Given the description of an element on the screen output the (x, y) to click on. 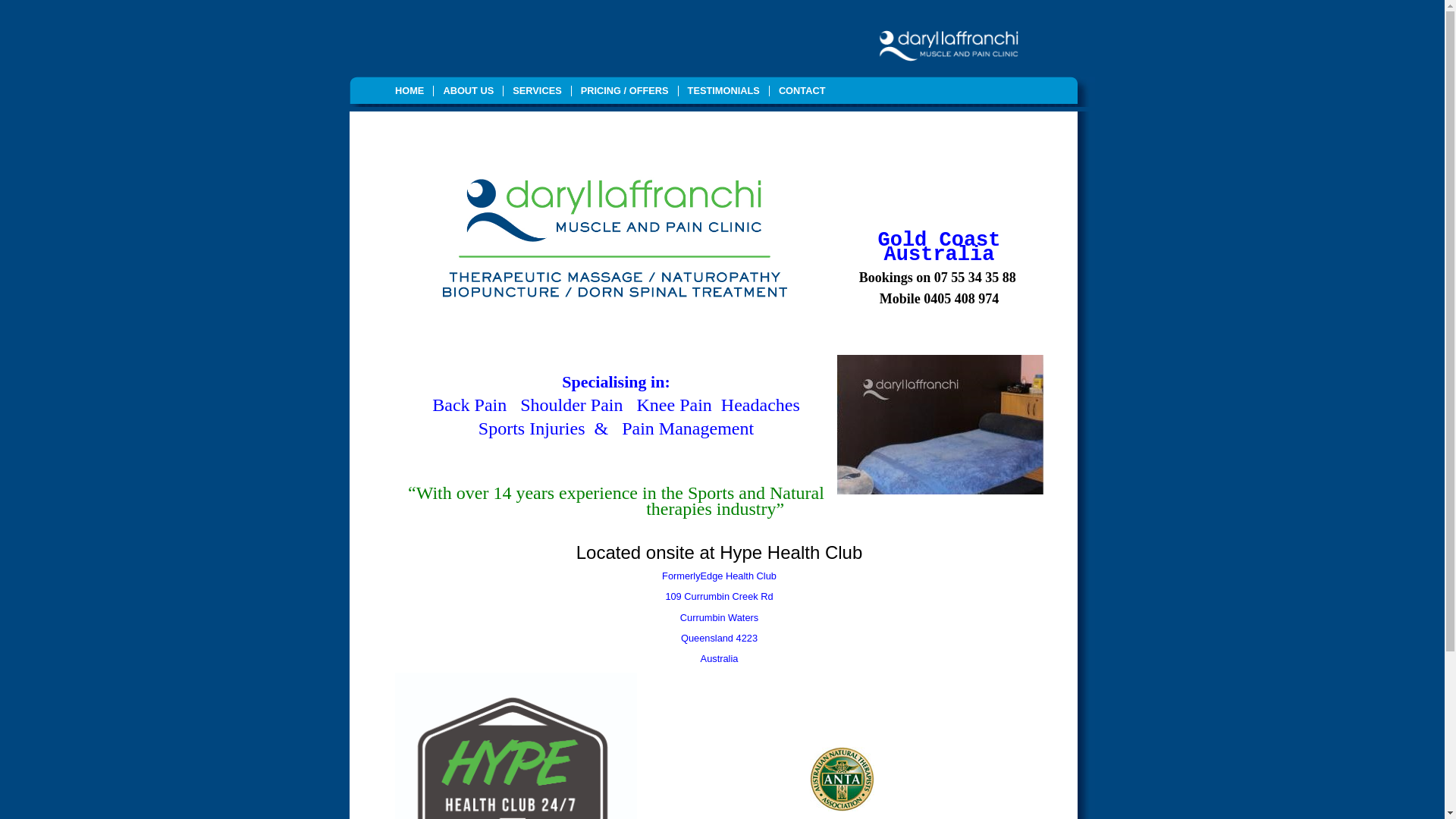
TESTIMONIALS Element type: text (723, 90)
ABOUT US Element type: text (467, 90)
HOME Element type: text (409, 90)
PRICING / OFFERS Element type: text (624, 90)
SERVICES Element type: text (536, 90)
CONTACT Element type: text (801, 90)
